Given the description of an element on the screen output the (x, y) to click on. 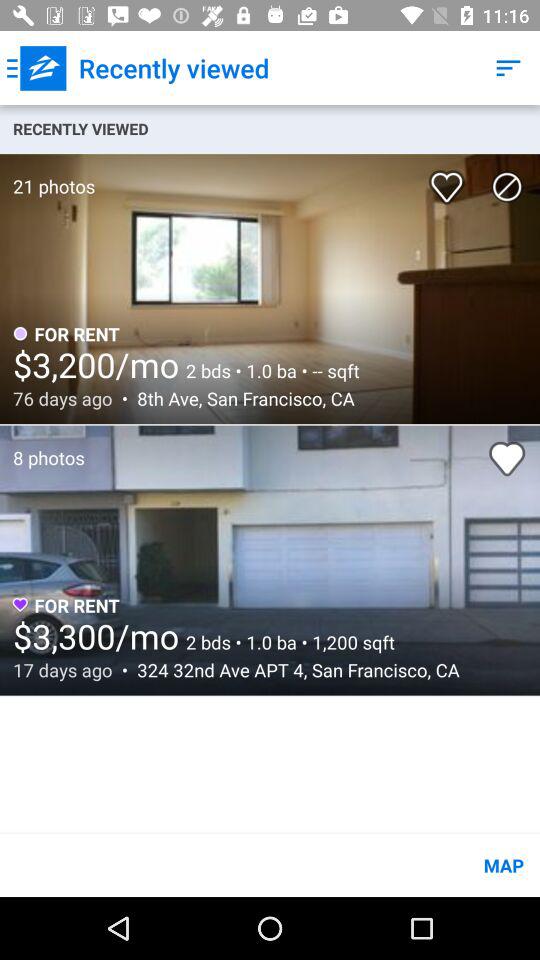
open 324 32nd ave (292, 669)
